Given the description of an element on the screen output the (x, y) to click on. 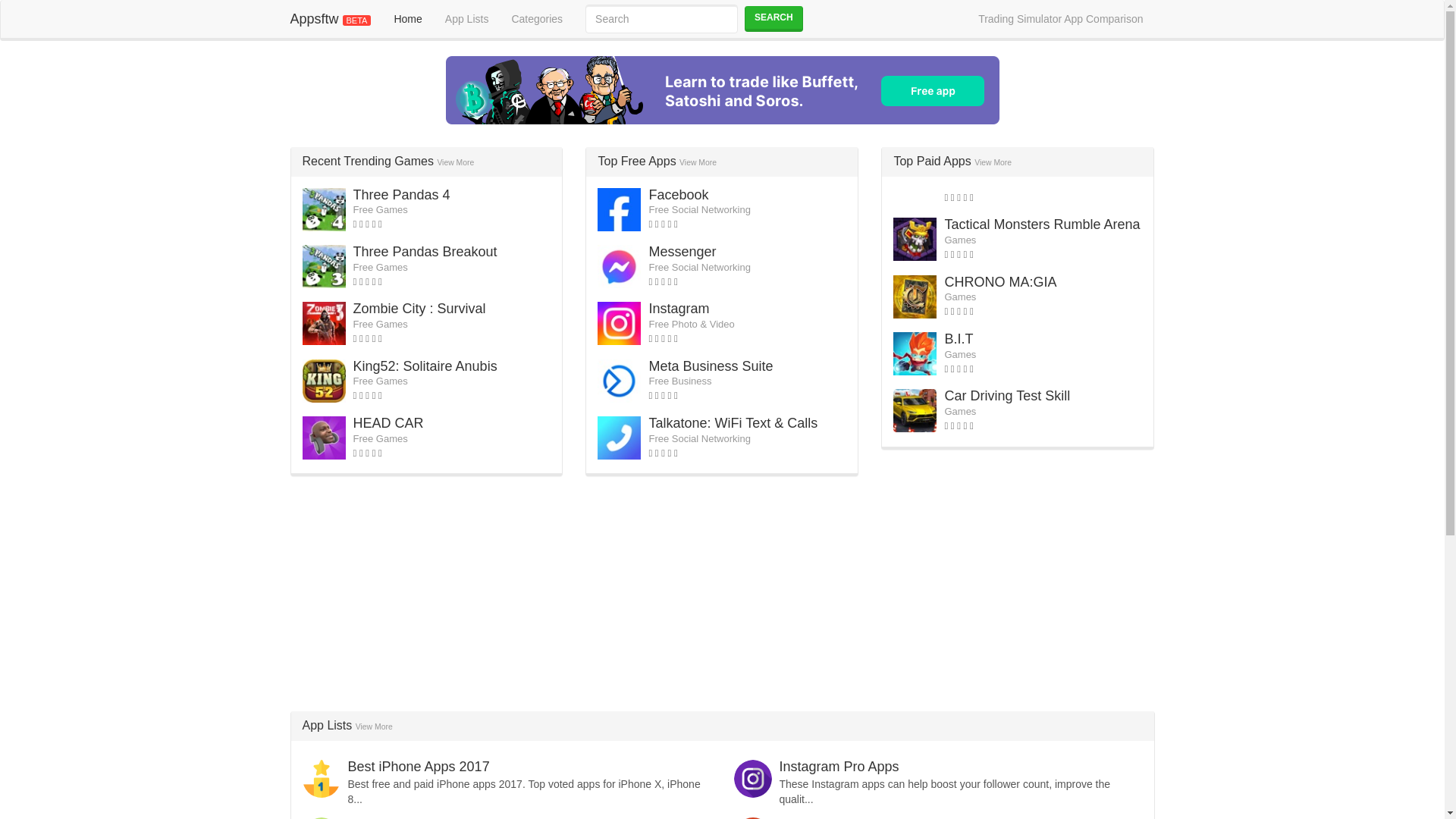
View HEAD CAR (388, 422)
Instagram Pro Apps (838, 766)
View Instagram (678, 308)
View King52: Solitaire Anubis (425, 365)
View Three Pandas 4 (401, 194)
Meta Business Suite (710, 365)
King52: Solitaire Anubis (425, 365)
View CHRONO MA:GIA (1000, 281)
View Tactical Monsters Rumble Arena (1041, 224)
Apps to Increase Productivity (435, 817)
B.I.T (957, 338)
Top Free Apps View More (656, 160)
Top Paid Apps View More (952, 160)
Facebook (677, 194)
